Given the description of an element on the screen output the (x, y) to click on. 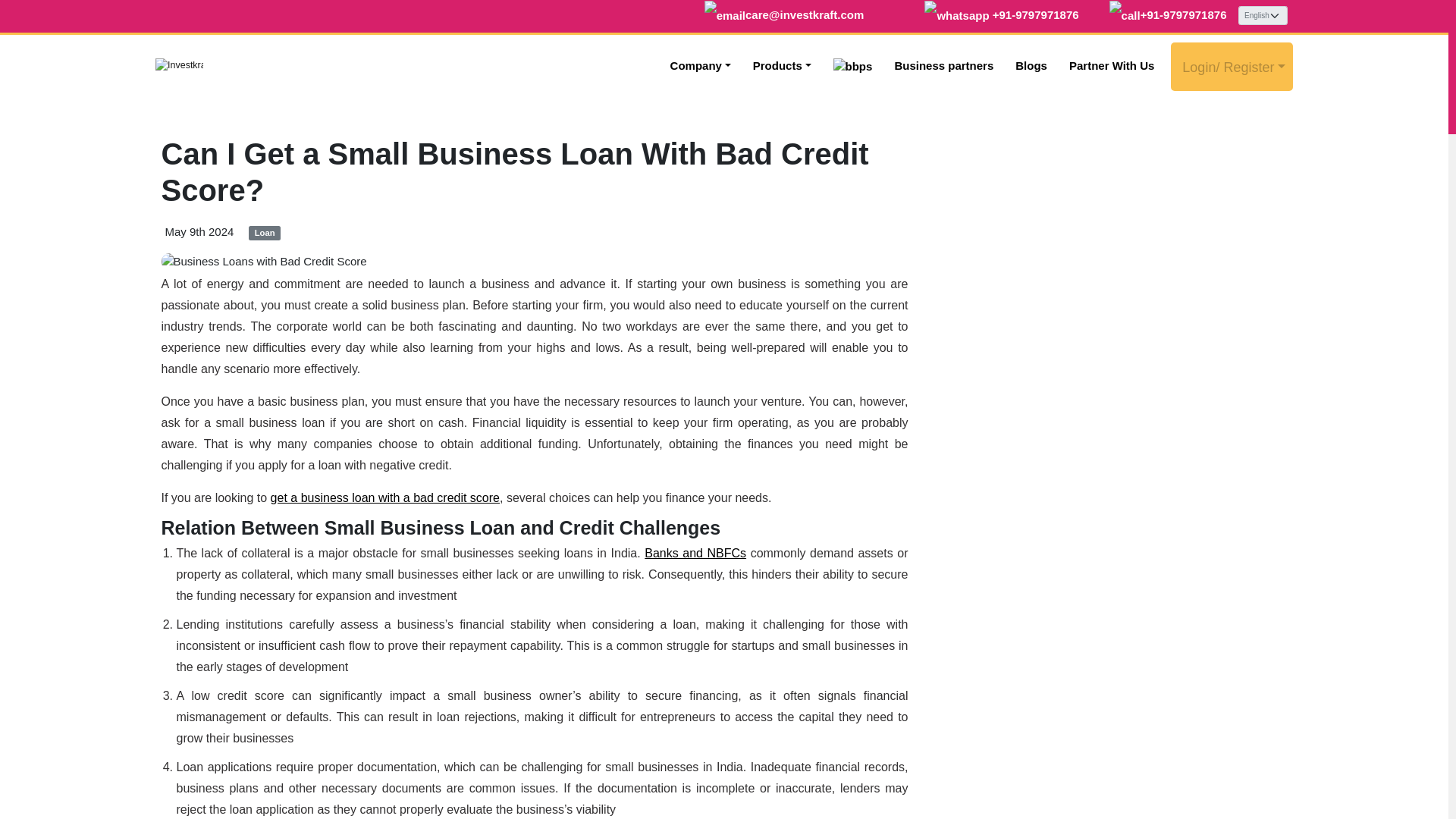
Company (700, 66)
Products (782, 66)
Business partners (943, 66)
Partner With Us (1111, 66)
